Given the description of an element on the screen output the (x, y) to click on. 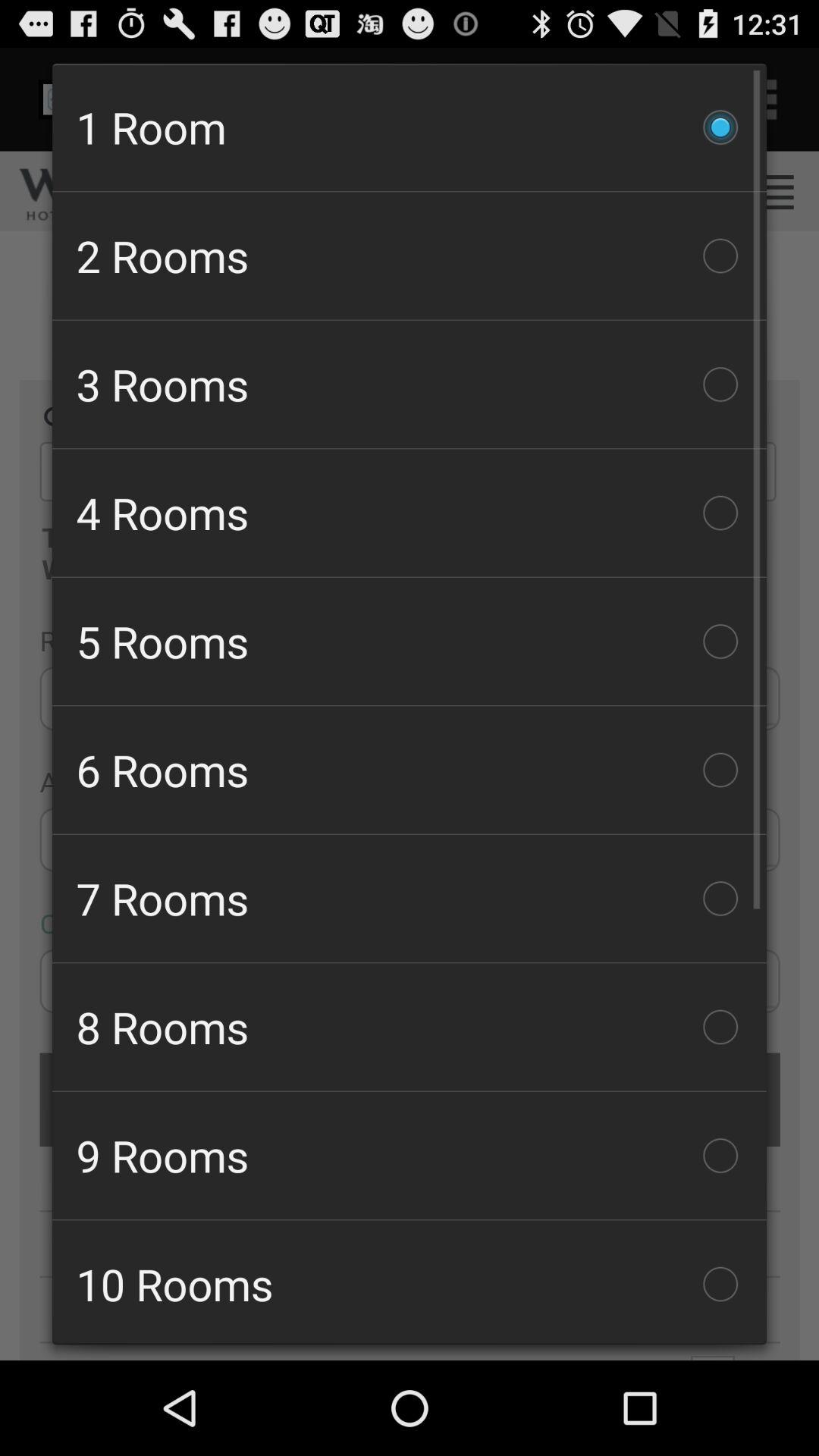
select the checkbox above the 2 rooms icon (409, 127)
